Given the description of an element on the screen output the (x, y) to click on. 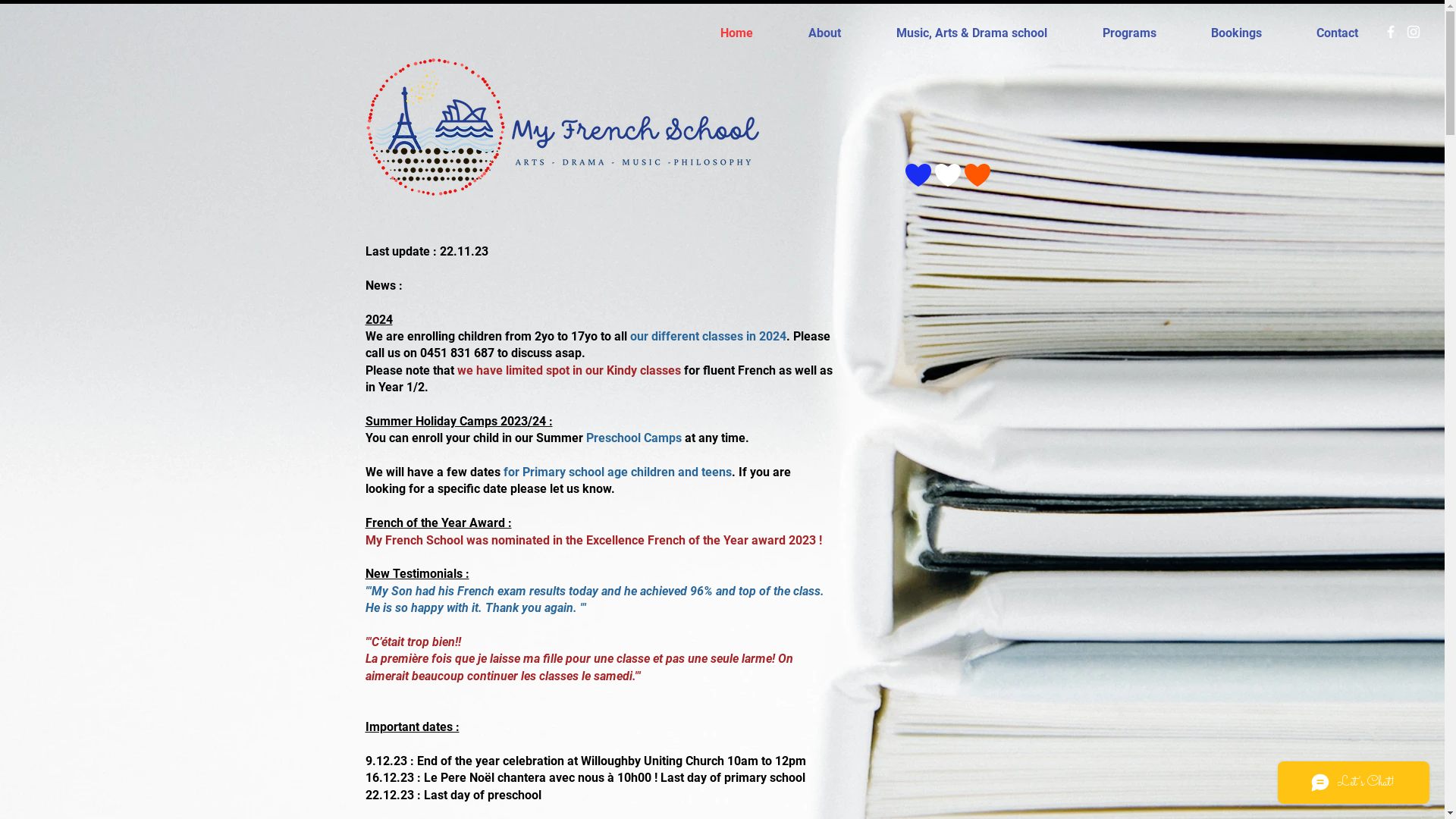
About Element type: text (824, 32)
Programs Element type: text (1128, 32)
Home Element type: text (736, 32)
Music, Arts & Drama school Element type: text (971, 32)
Contact Element type: text (1337, 32)
Bookings Element type: text (1236, 32)
